Given the description of an element on the screen output the (x, y) to click on. 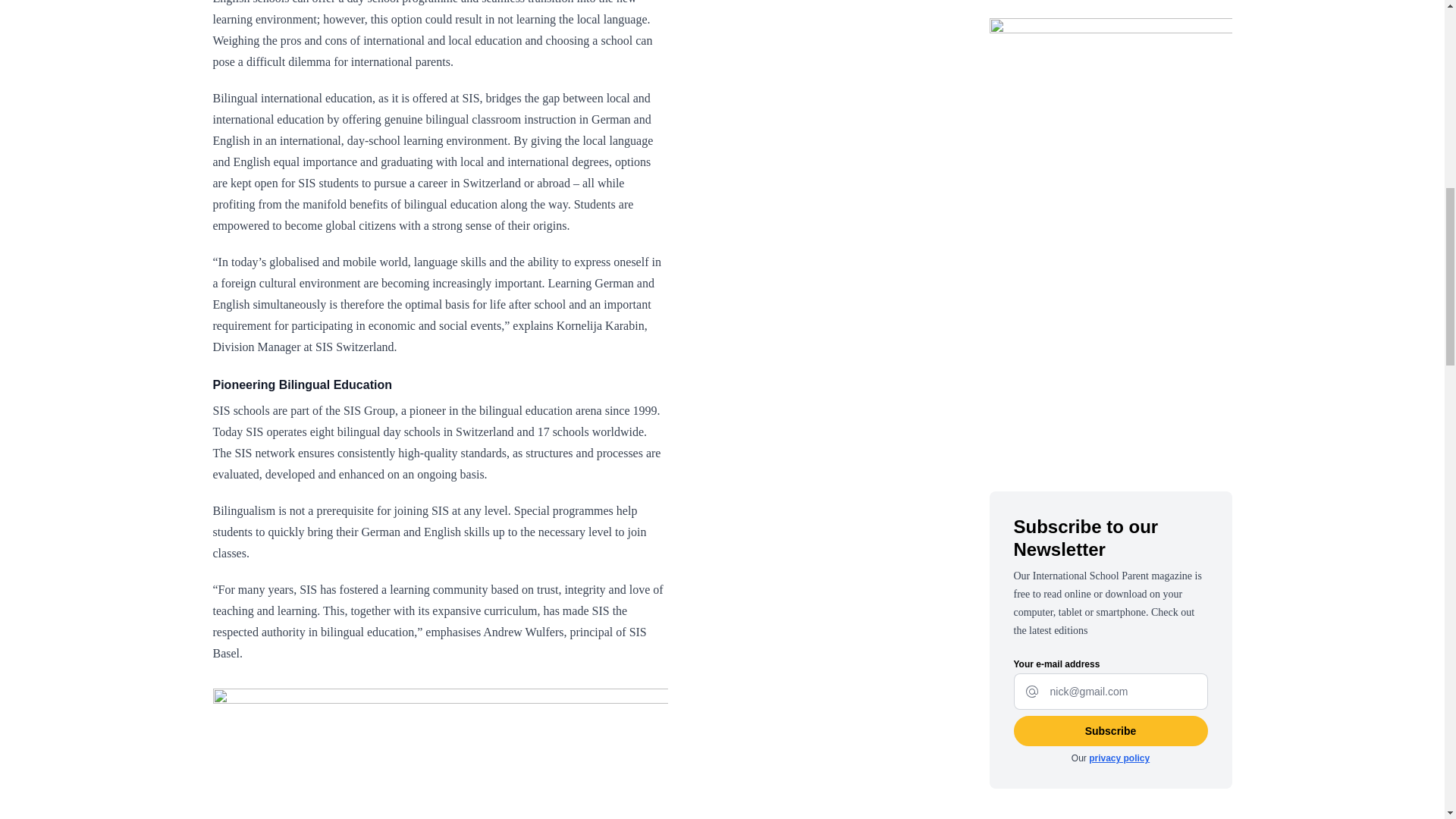
Subscribe (1110, 730)
privacy policy (1119, 757)
Subscribe (1110, 730)
